Given the description of an element on the screen output the (x, y) to click on. 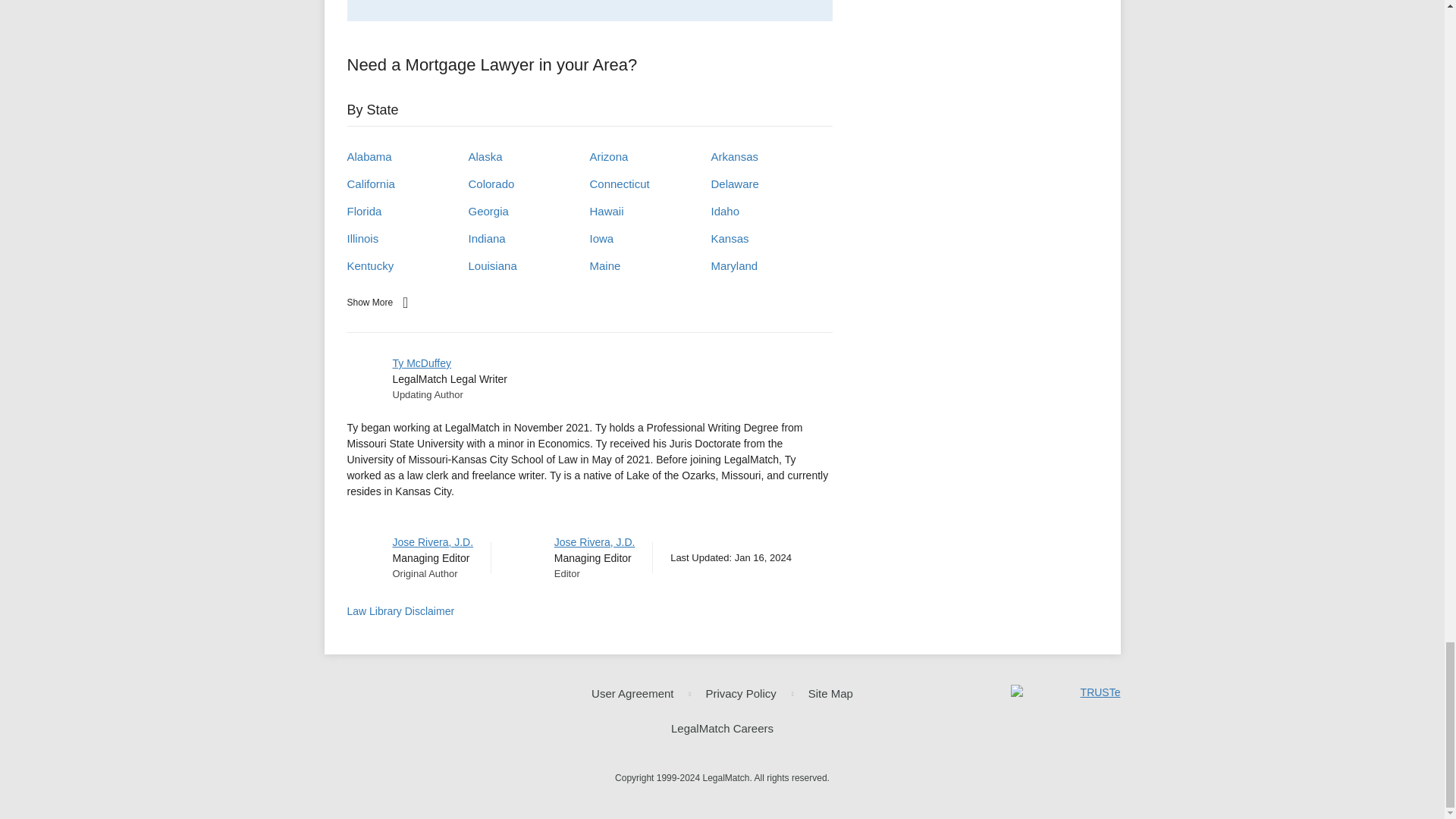
LegalMatch Careers (722, 728)
